Given the description of an element on the screen output the (x, y) to click on. 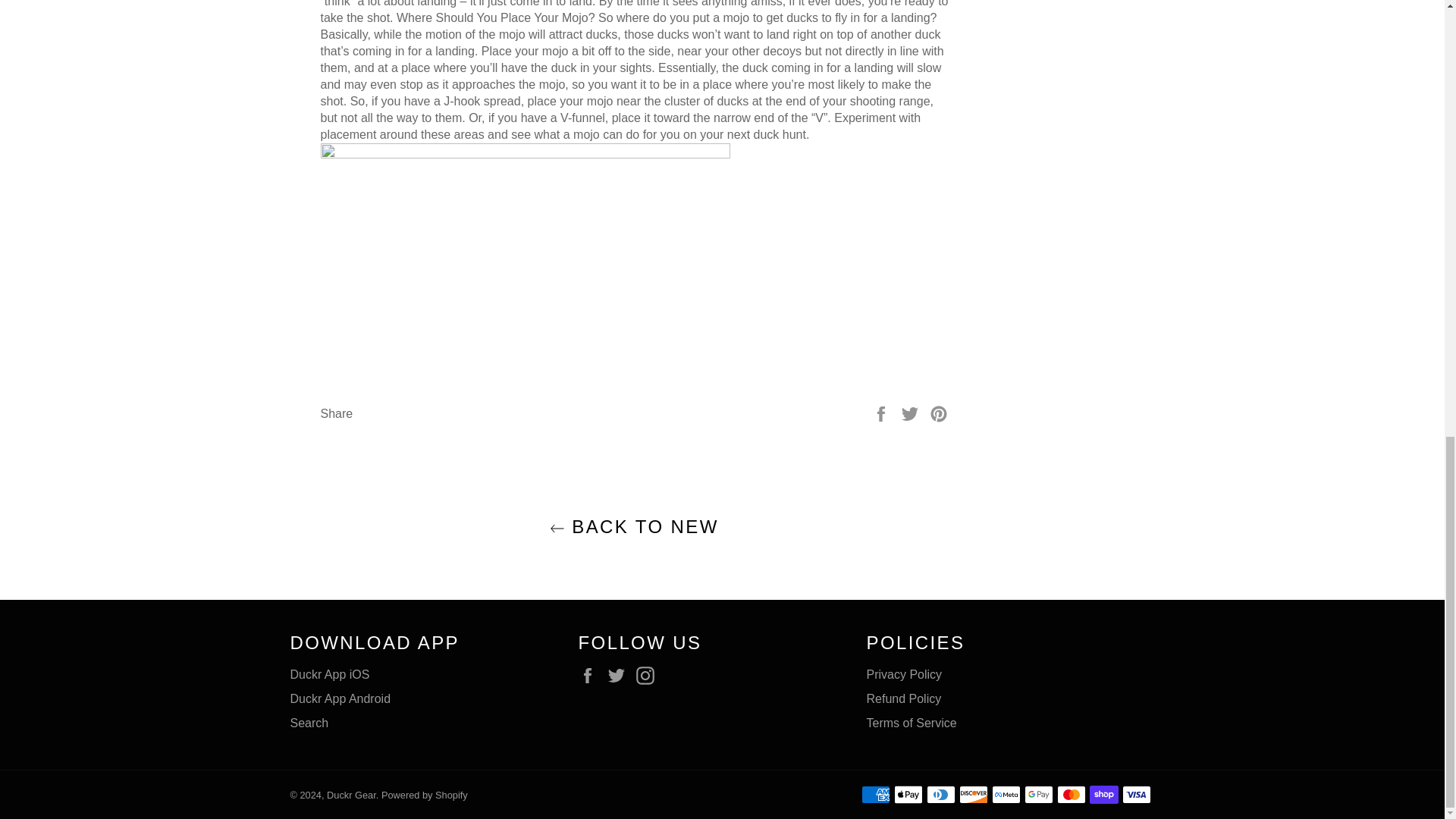
Duckr Gear on Instagram (649, 675)
BACK TO NEW (633, 526)
Duckr Gear on Facebook (591, 675)
Share on Facebook (882, 413)
Share on Facebook (882, 413)
Tweet on Twitter (911, 413)
Pin on Pinterest (938, 413)
Tweet on Twitter (911, 413)
Pin on Pinterest (938, 413)
Duckr Gear on Twitter (620, 675)
